Given the description of an element on the screen output the (x, y) to click on. 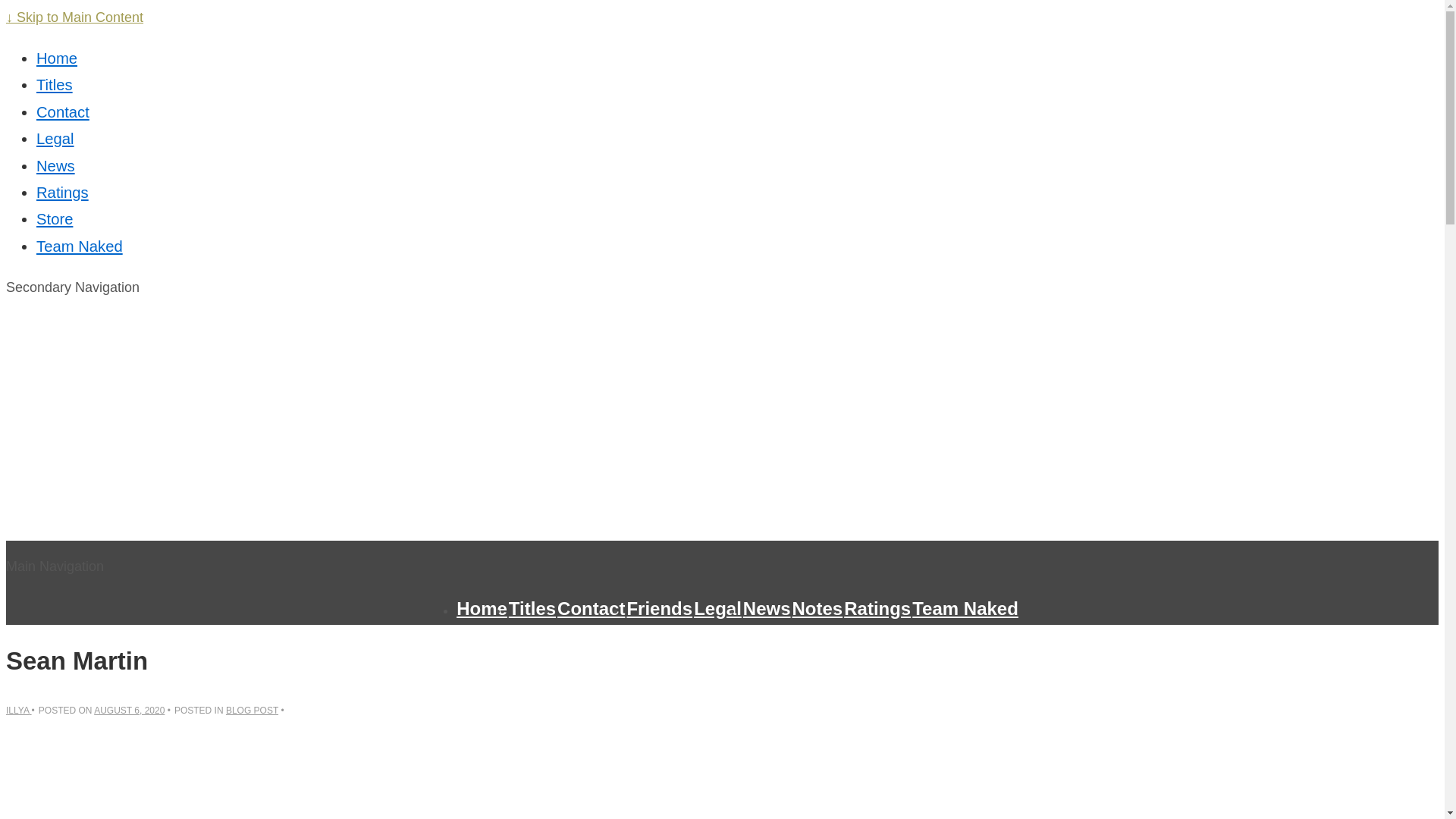
Home (56, 57)
Team Naked (79, 246)
Ratings (62, 192)
BLOG POST (251, 710)
News (55, 166)
Titles (54, 84)
News (766, 607)
Team Naked (964, 607)
ILLYA (18, 710)
Sean Martin (129, 710)
